Given the description of an element on the screen output the (x, y) to click on. 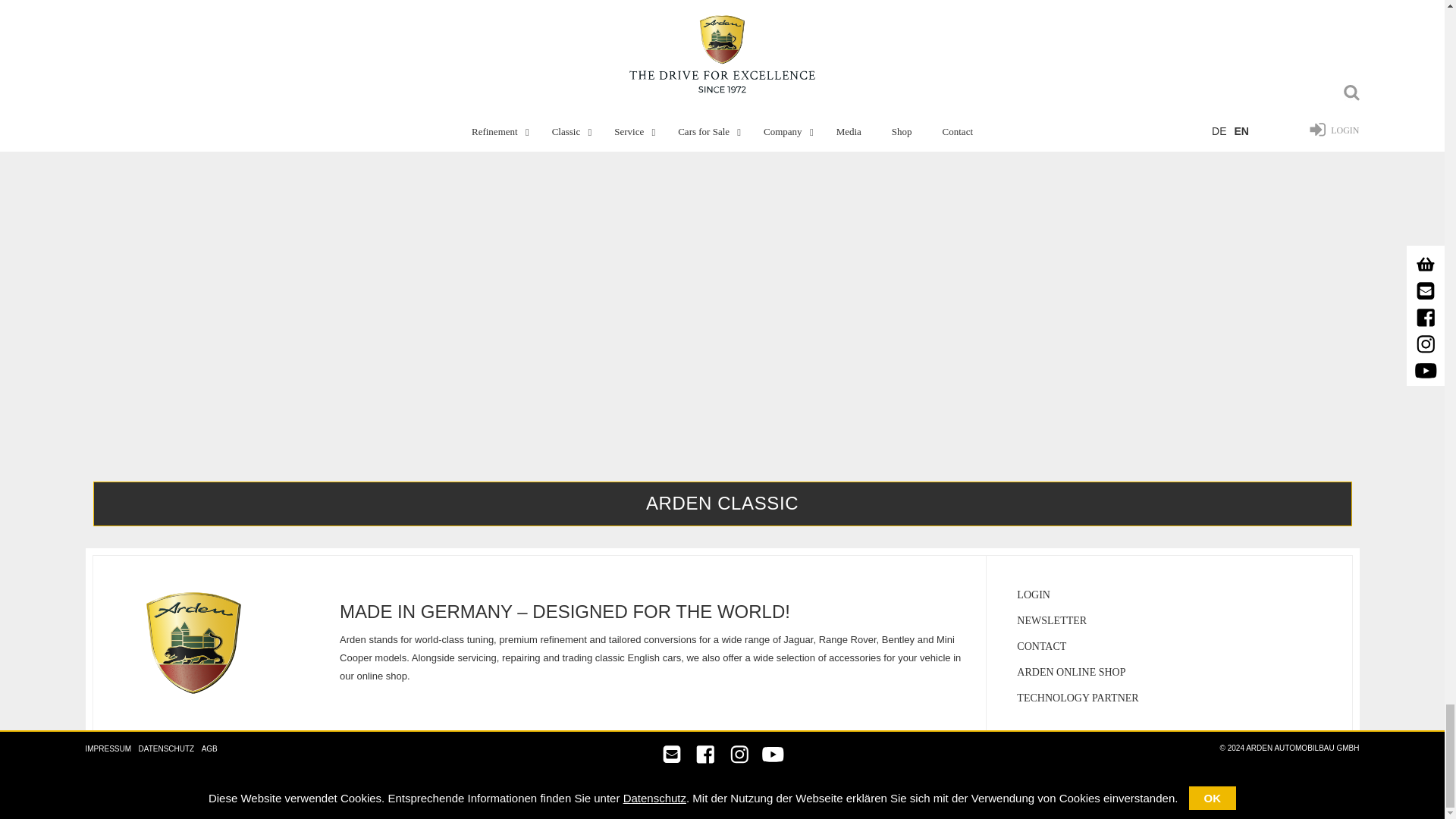
Datenschutz (166, 748)
Impressum (107, 748)
